Given the description of an element on the screen output the (x, y) to click on. 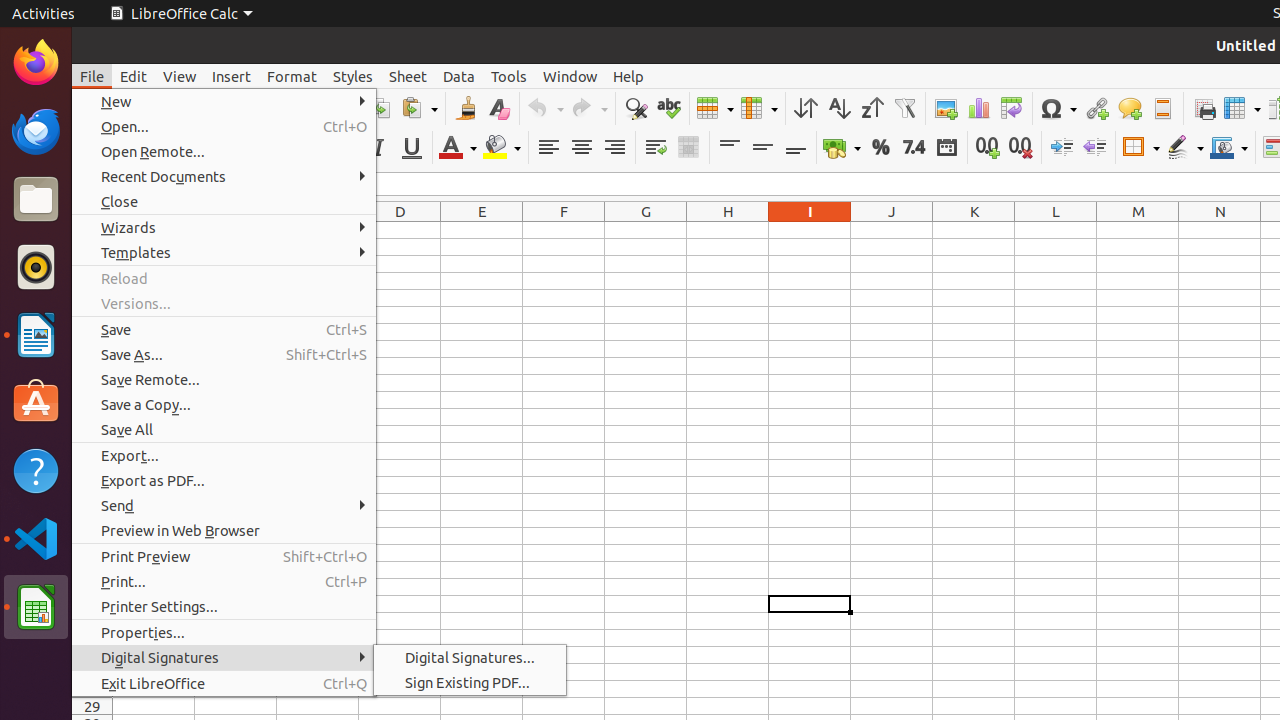
Comment Element type: push-button (1129, 108)
Font Color Element type: push-button (458, 147)
Borders (Shift to overwrite) Element type: push-button (1141, 147)
Save All Element type: menu-item (224, 429)
Save a Copy... Element type: menu-item (224, 404)
